Given the description of an element on the screen output the (x, y) to click on. 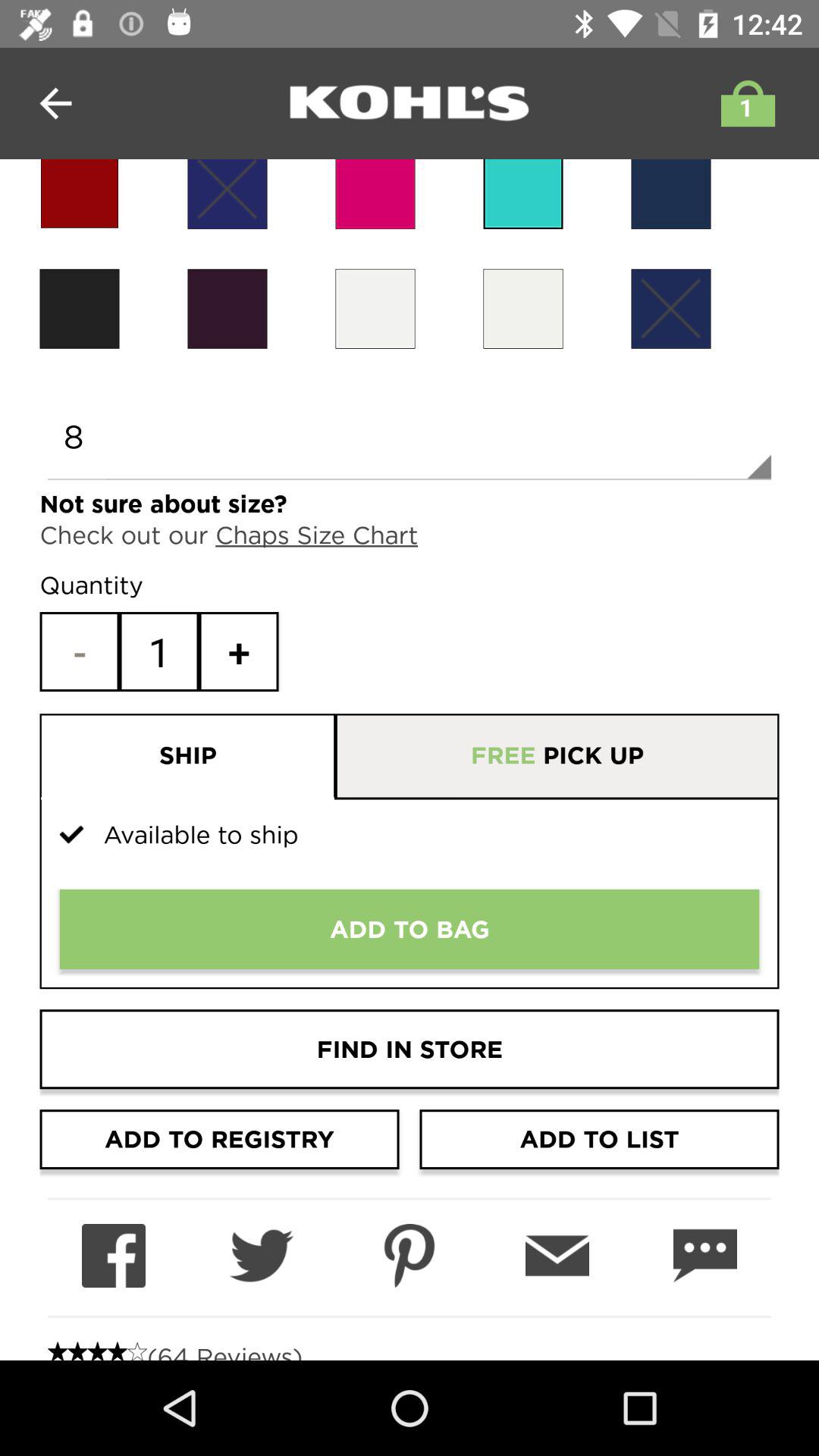
share on facebook (113, 1255)
